Given the description of an element on the screen output the (x, y) to click on. 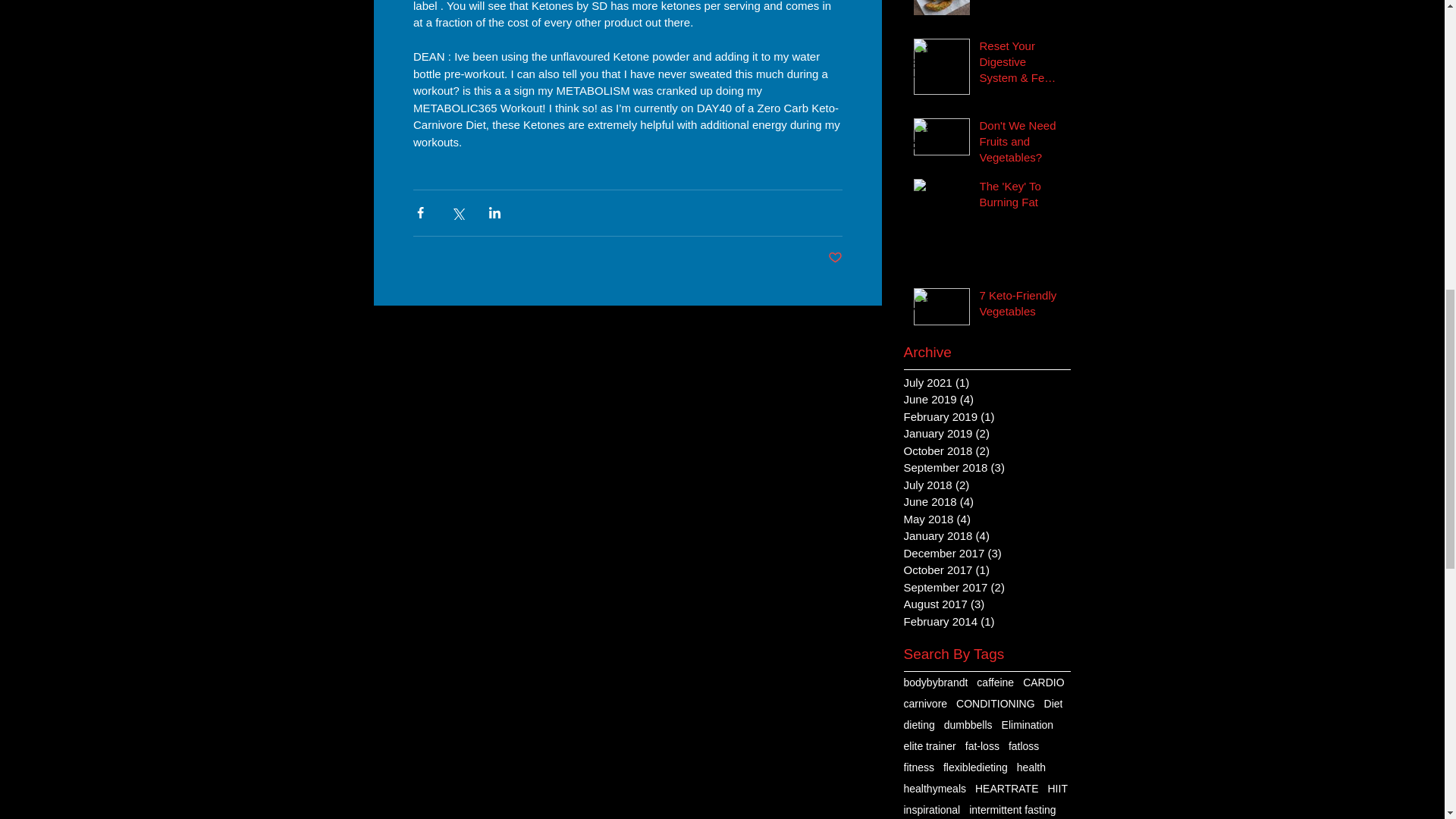
Post not marked as liked (835, 258)
Don't We Need Fruits and Vegetables? (1020, 144)
The 'Key' To Burning Fat (1020, 197)
7 Keto-Friendly Vegetables (1020, 306)
